Given the description of an element on the screen output the (x, y) to click on. 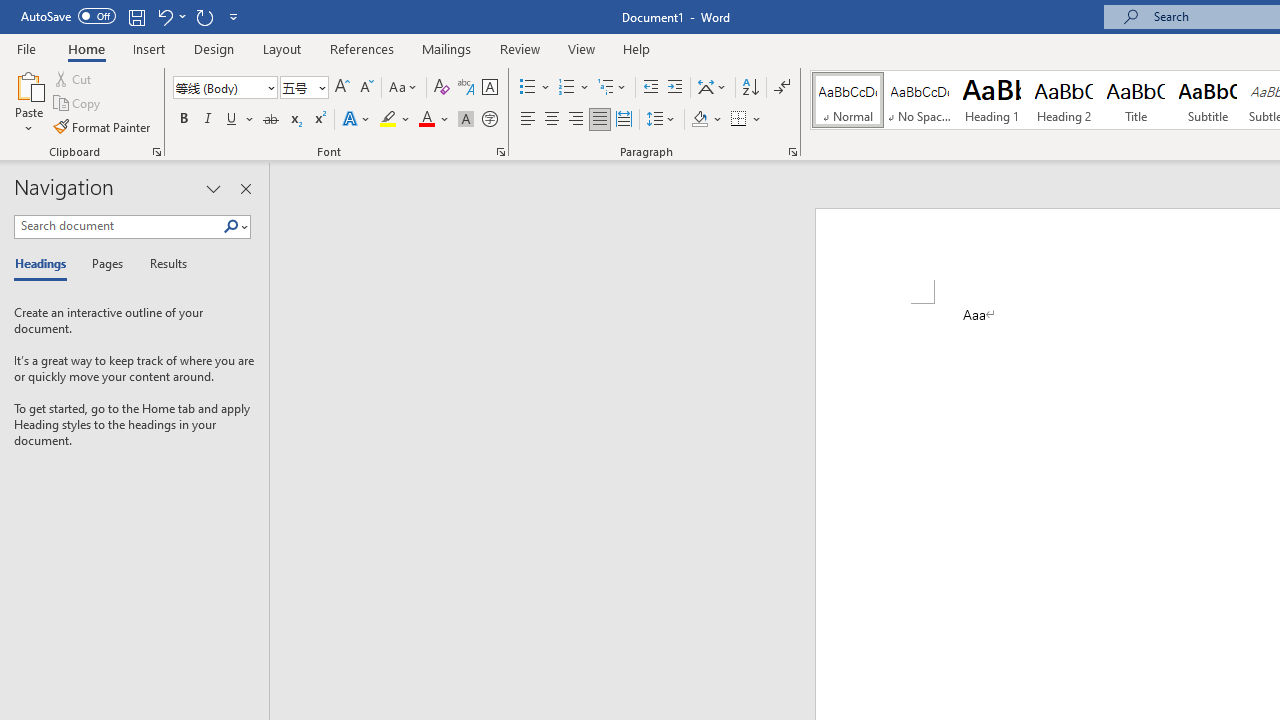
Paragraph... (792, 151)
Superscript (319, 119)
Change Case (404, 87)
Search document (118, 226)
Pages (105, 264)
Phonetic Guide... (465, 87)
Center (552, 119)
Multilevel List (613, 87)
